Given the description of an element on the screen output the (x, y) to click on. 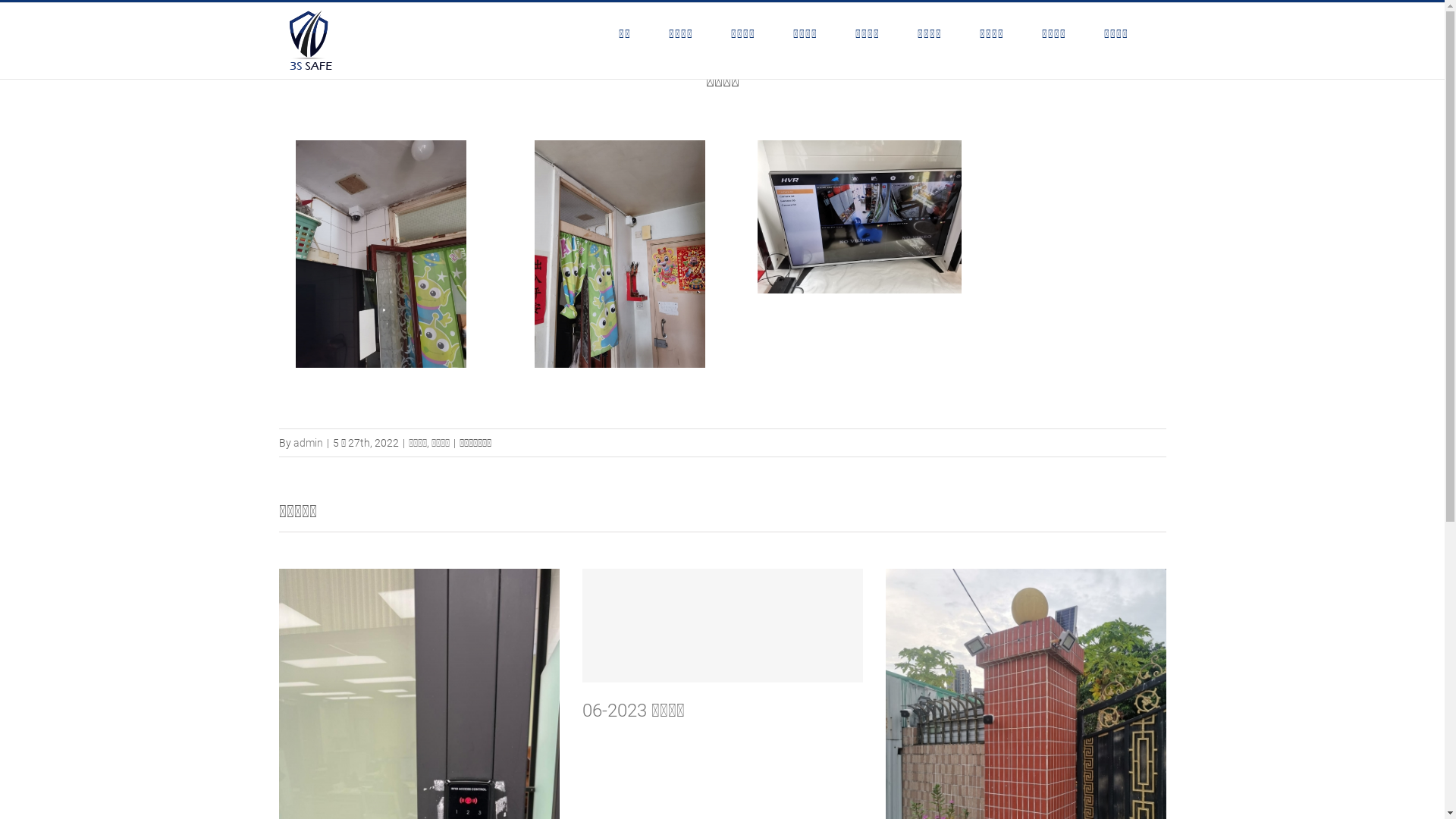
7b1330b3-14f4-4c71-b87c-e96e7f93eae8 Element type: hover (859, 152)
admin Element type: text (307, 442)
51f0f982-633d-436e-b38d-673975ca6f76 Element type: hover (619, 152)
f3412865-3cdc-4b66-9cbf-f46d1338e19b Element type: hover (380, 152)
